Given the description of an element on the screen output the (x, y) to click on. 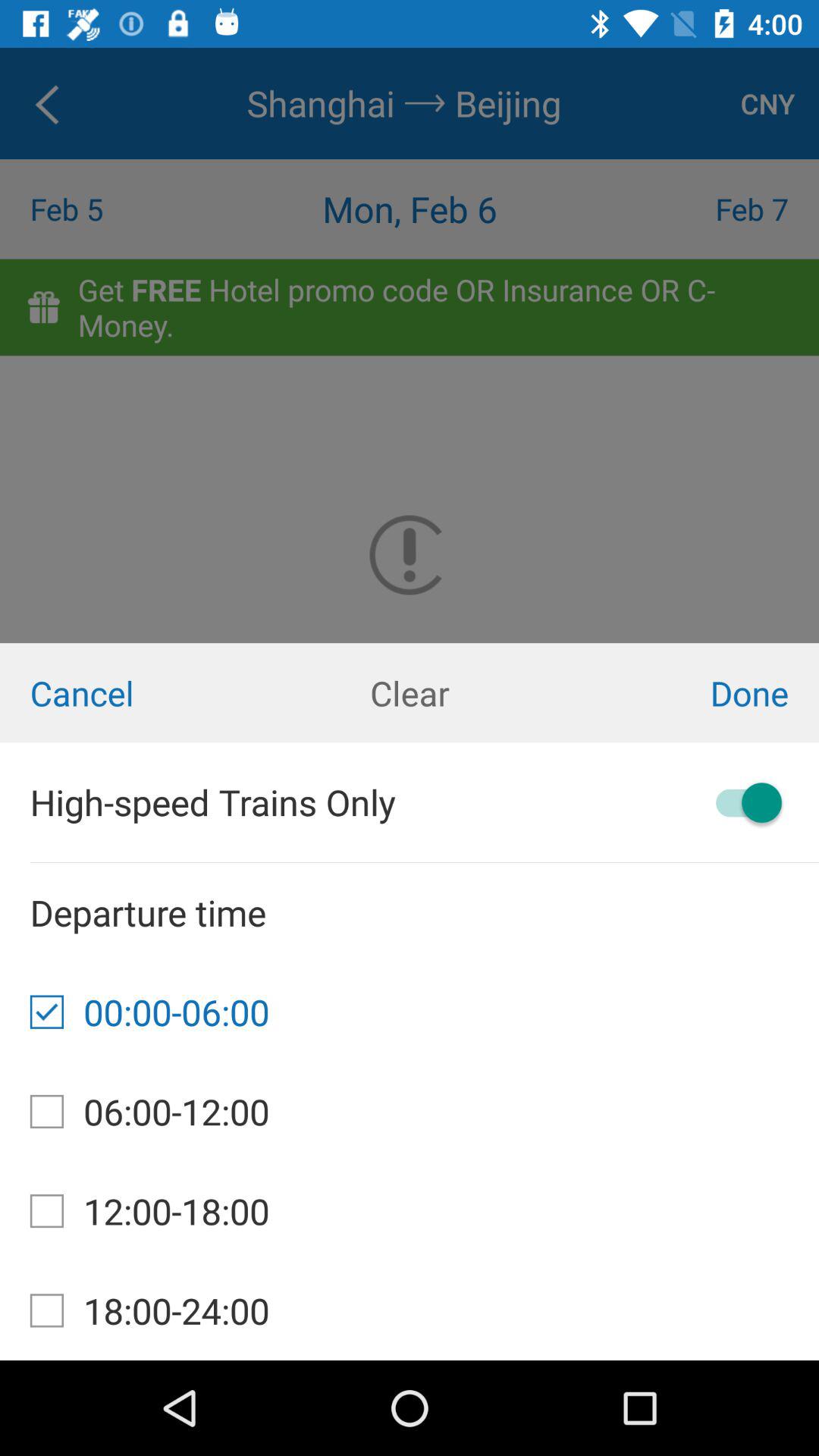
click cancel item (136, 692)
